Given the description of an element on the screen output the (x, y) to click on. 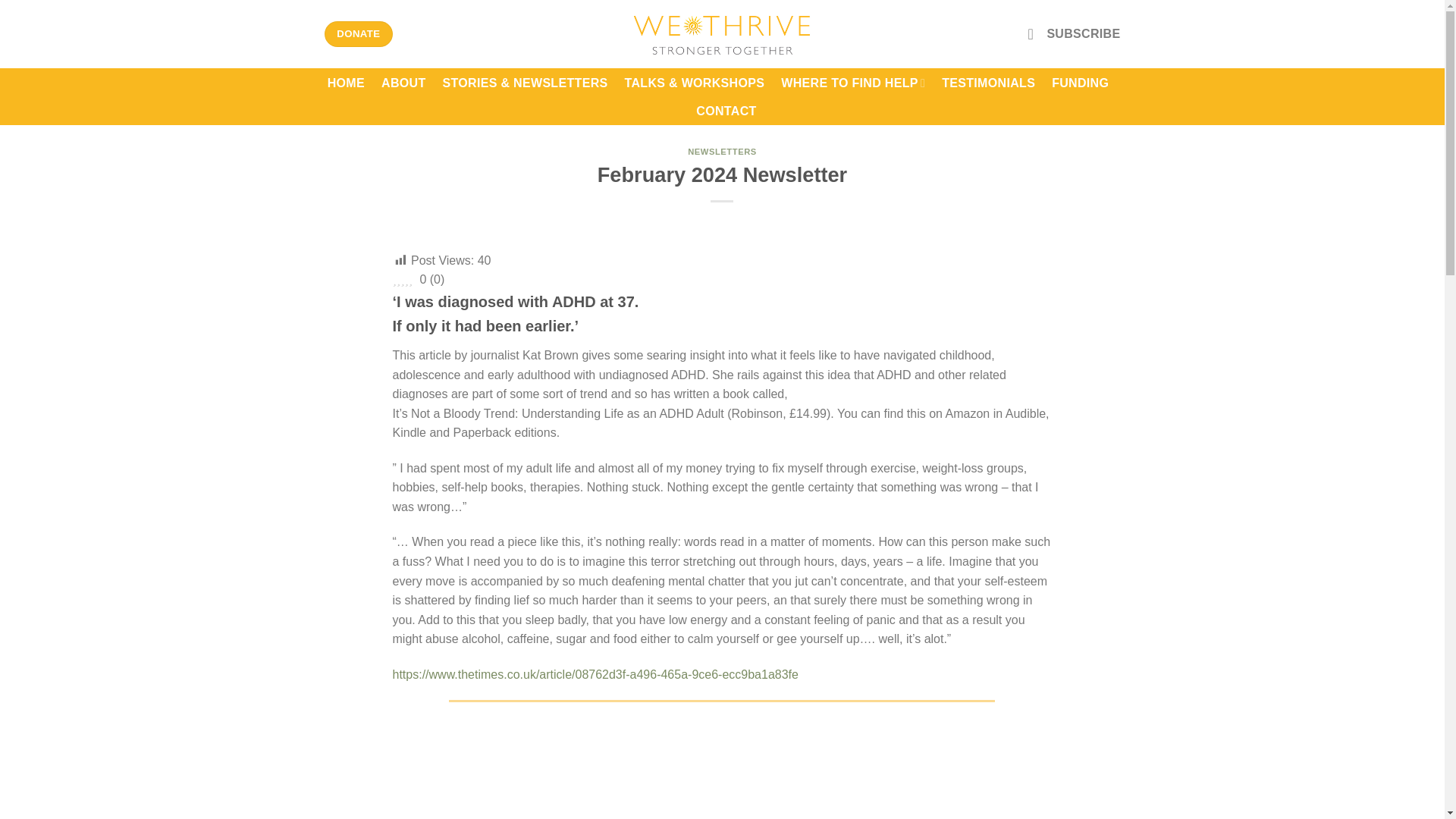
We Thrive - Stronger Together (722, 33)
FUNDING (1079, 83)
ABOUT (403, 83)
TESTIMONIALS (988, 83)
DONATE (358, 33)
Subscribe (1073, 33)
CONTACT (725, 111)
WHERE TO FIND HELP (852, 82)
SUBSCRIBE (1073, 33)
NEWSLETTERS (722, 151)
HOME (346, 83)
